Given the description of an element on the screen output the (x, y) to click on. 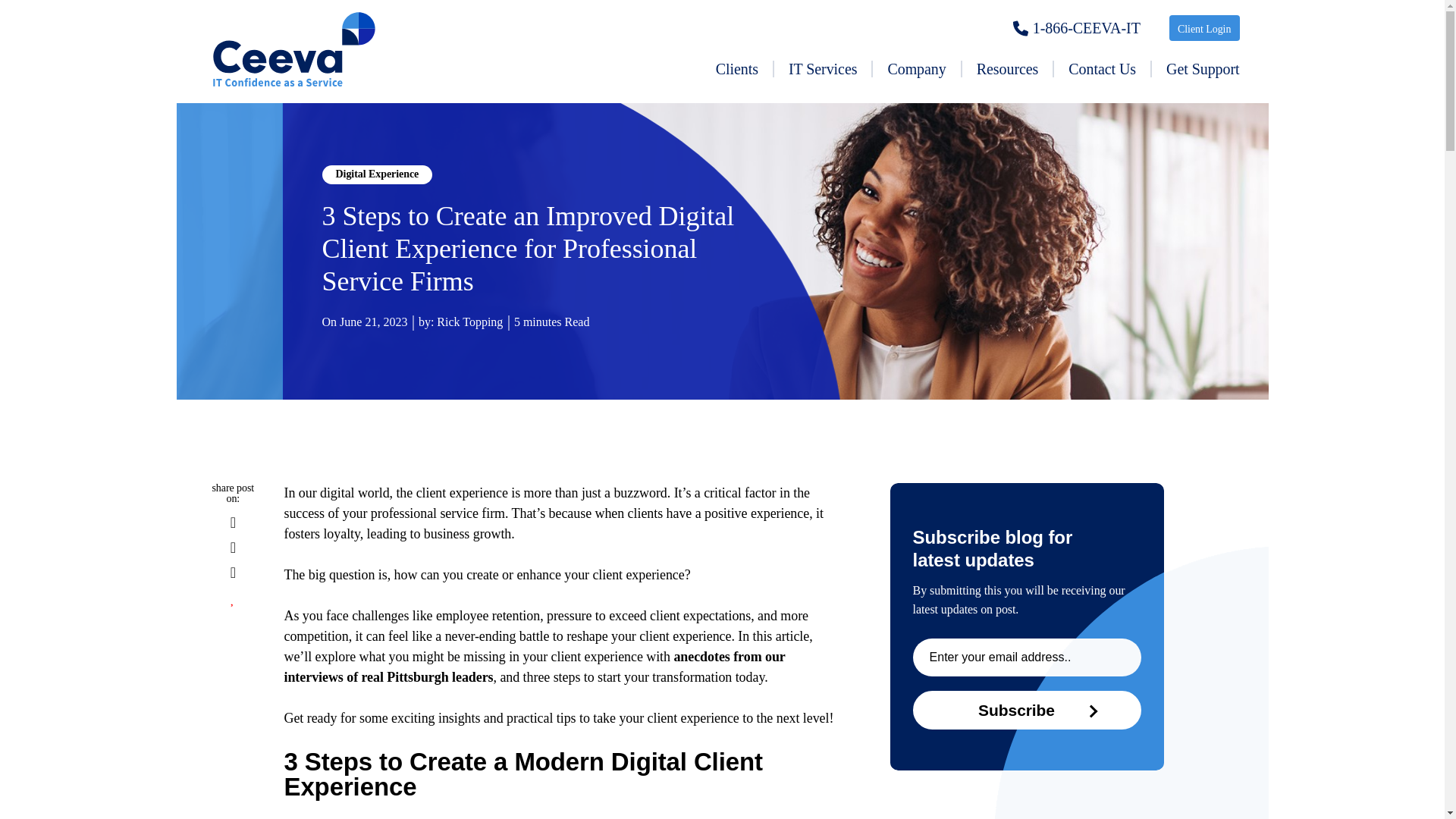
Company (916, 68)
IT Services (822, 68)
Clients (736, 68)
Ceeva - Managed IT Services (293, 55)
Digital Experience (376, 174)
Resources (1007, 68)
